Given the description of an element on the screen output the (x, y) to click on. 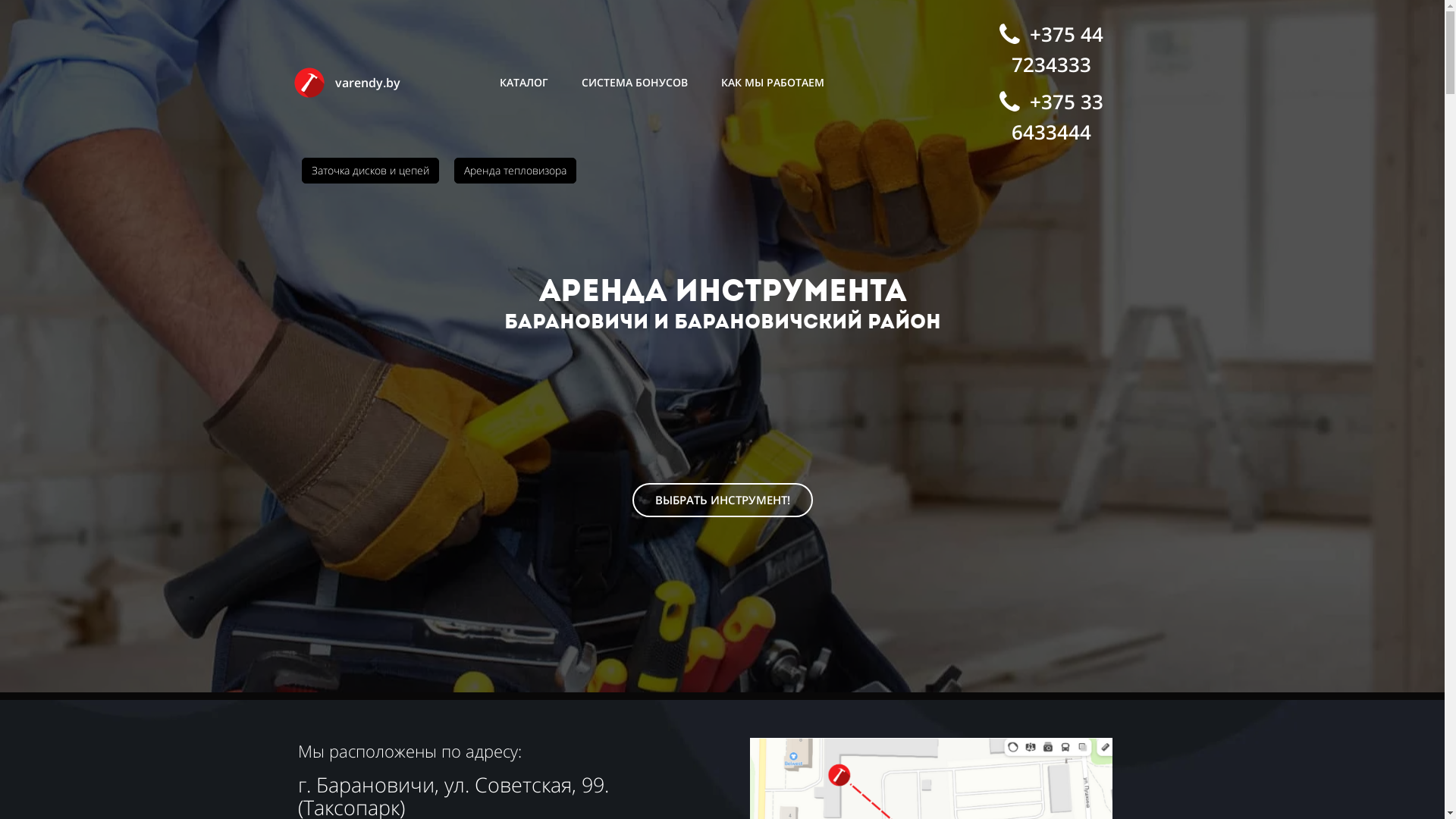
+375 33 6433444 Element type: text (1051, 116)
+375 44 7234333 Element type: text (1051, 48)
